Given the description of an element on the screen output the (x, y) to click on. 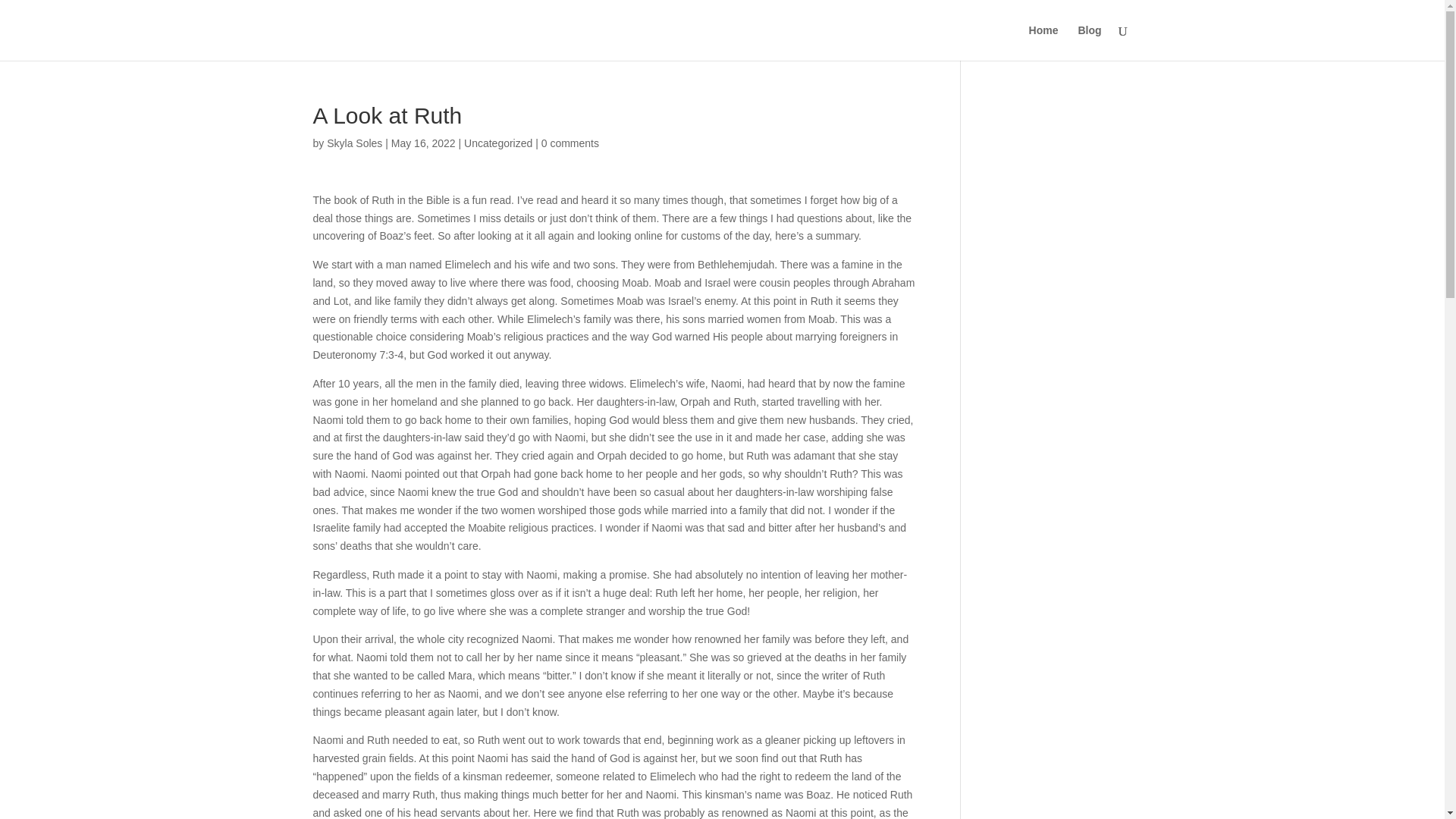
Home (1043, 42)
Posts by Skyla Soles (353, 143)
0 comments (569, 143)
Uncategorized (498, 143)
Skyla Soles (353, 143)
Blog (1088, 42)
